Given the description of an element on the screen output the (x, y) to click on. 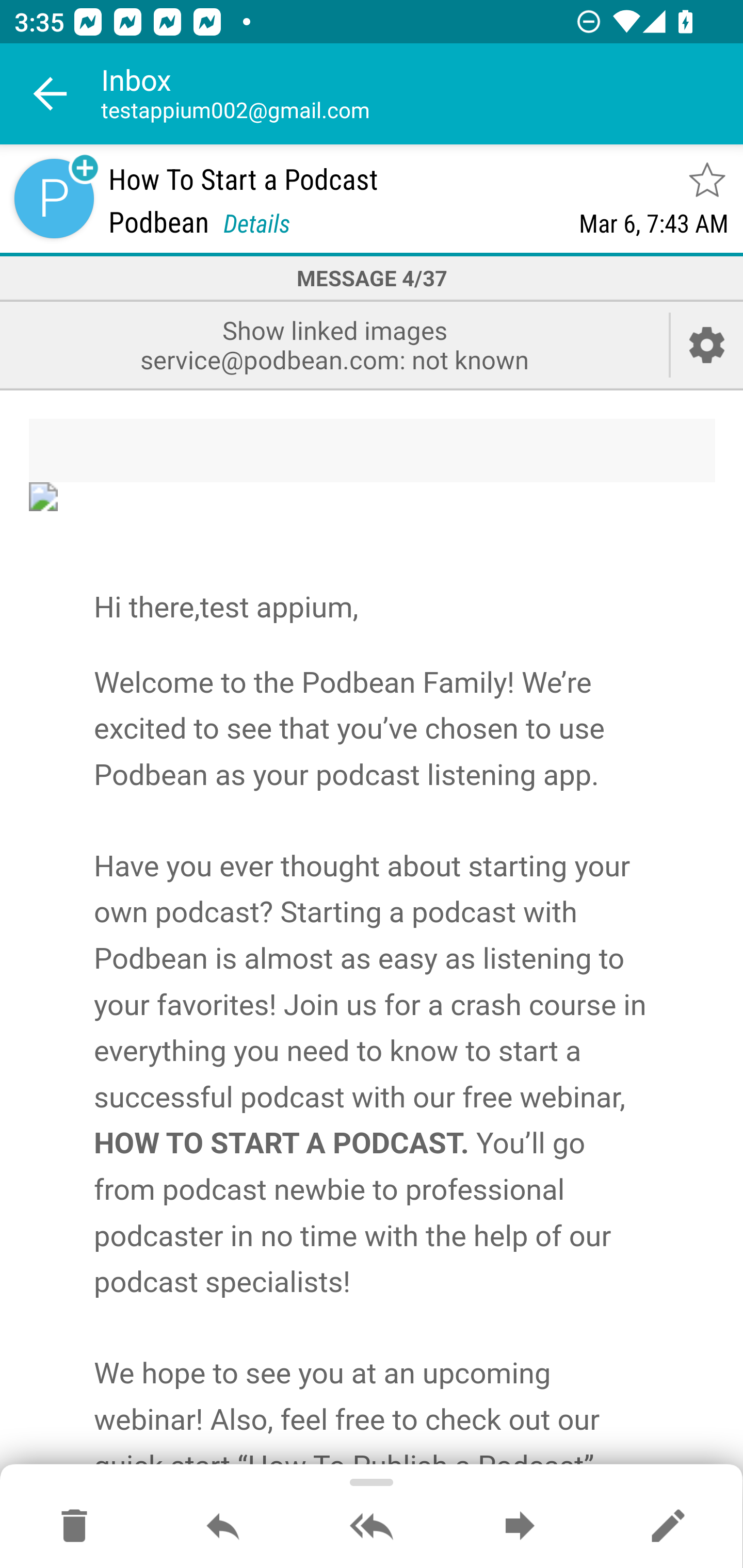
Navigate up (50, 93)
Inbox testappium002@gmail.com (422, 93)
Sender contact button (53, 198)
Show linked images
service@podbean.com: not known (334, 344)
Account setup (706, 344)
data: (372, 495)
Move to Deleted (74, 1527)
Reply (222, 1527)
Reply all (371, 1527)
Forward (519, 1527)
Reply as new (667, 1527)
